Given the description of an element on the screen output the (x, y) to click on. 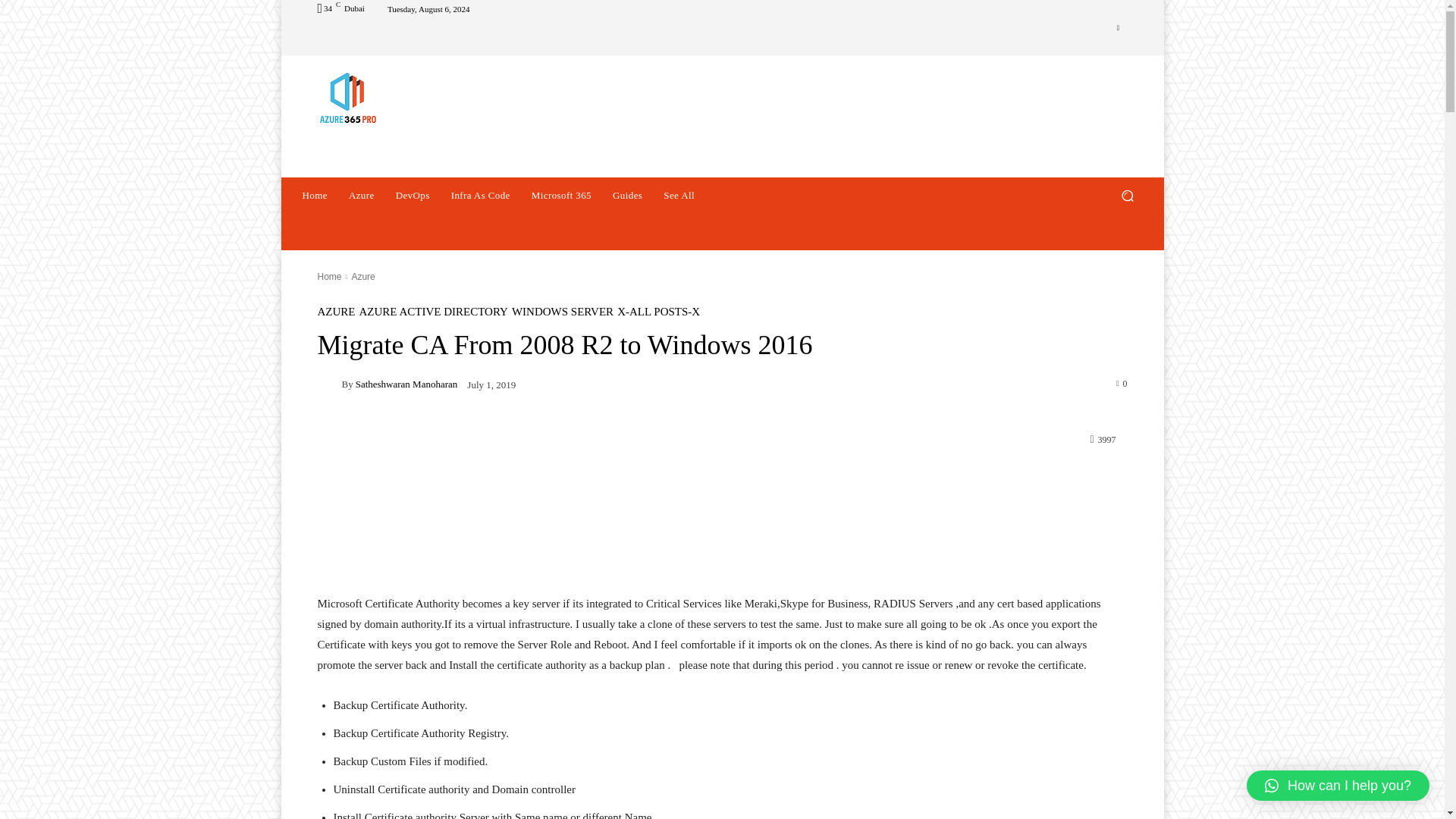
Azure (361, 195)
Microsoft 365 (561, 195)
DevOps (413, 195)
Infra As Code (481, 195)
Guides (627, 195)
Home (314, 195)
Linkedin (1117, 27)
